Given the description of an element on the screen output the (x, y) to click on. 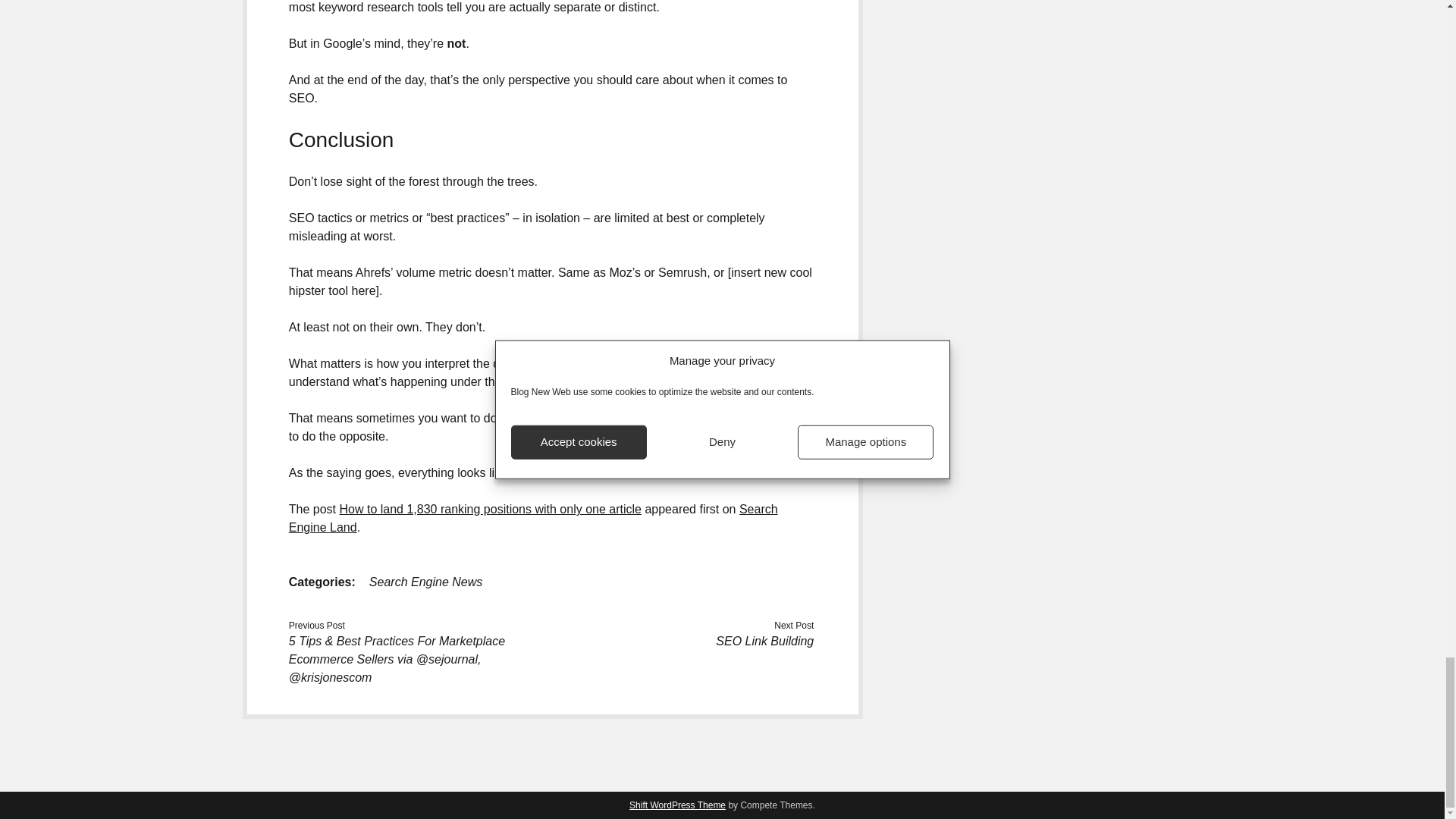
Search Engine Land (532, 517)
SEO Link Building (764, 640)
Search Engine News (425, 581)
How to land 1,830 ranking positions with only one article (490, 508)
View all posts in Search Engine News (425, 581)
